Given the description of an element on the screen output the (x, y) to click on. 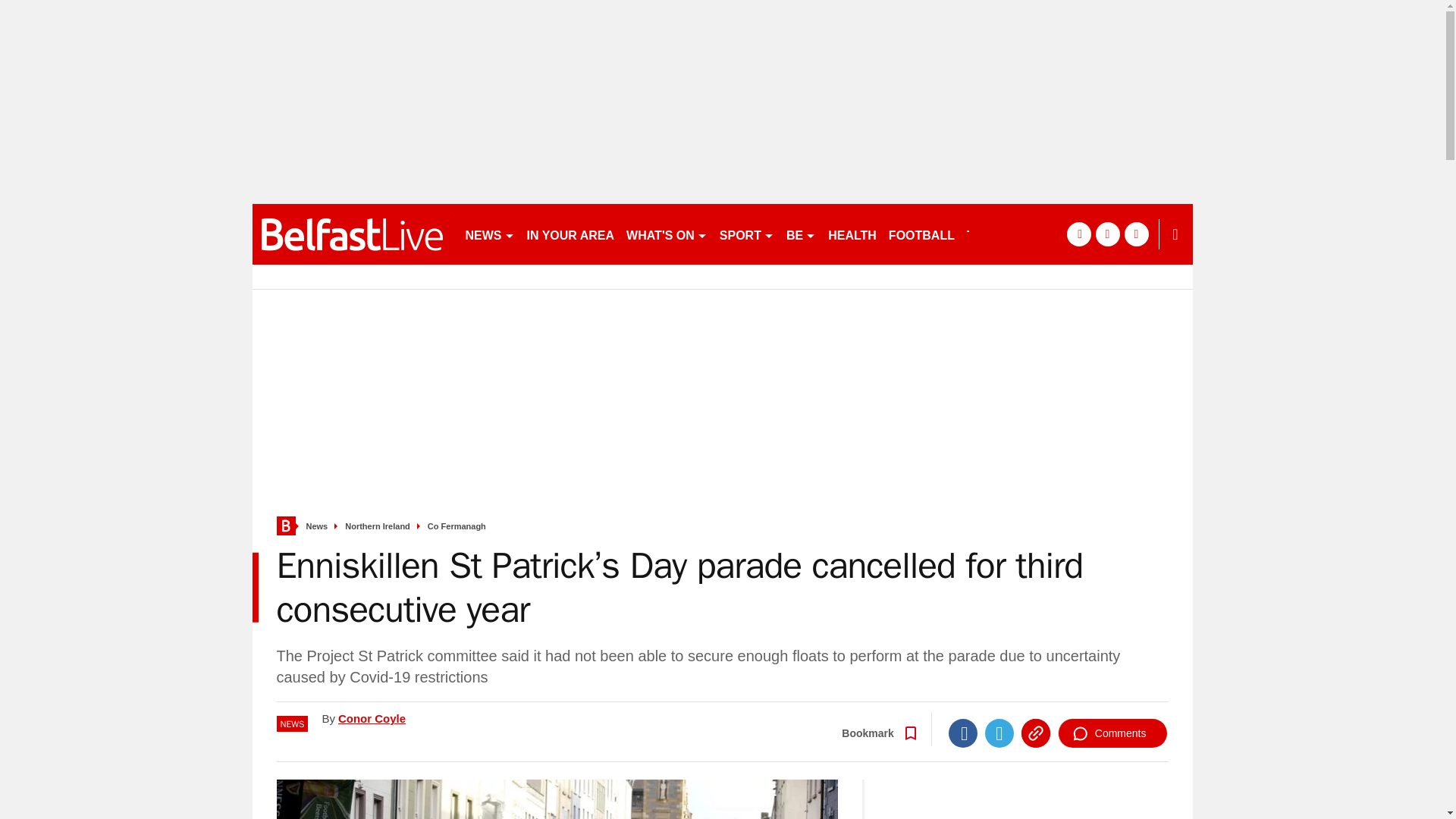
facebook (997, 233)
instagram (1055, 233)
WHAT'S ON (666, 233)
SPORT (746, 233)
IN YOUR AREA (569, 233)
Facebook (962, 733)
Comments (1112, 733)
Twitter (999, 733)
twitter (1026, 233)
NEWS (490, 233)
belfastlive (351, 233)
